Given the description of an element on the screen output the (x, y) to click on. 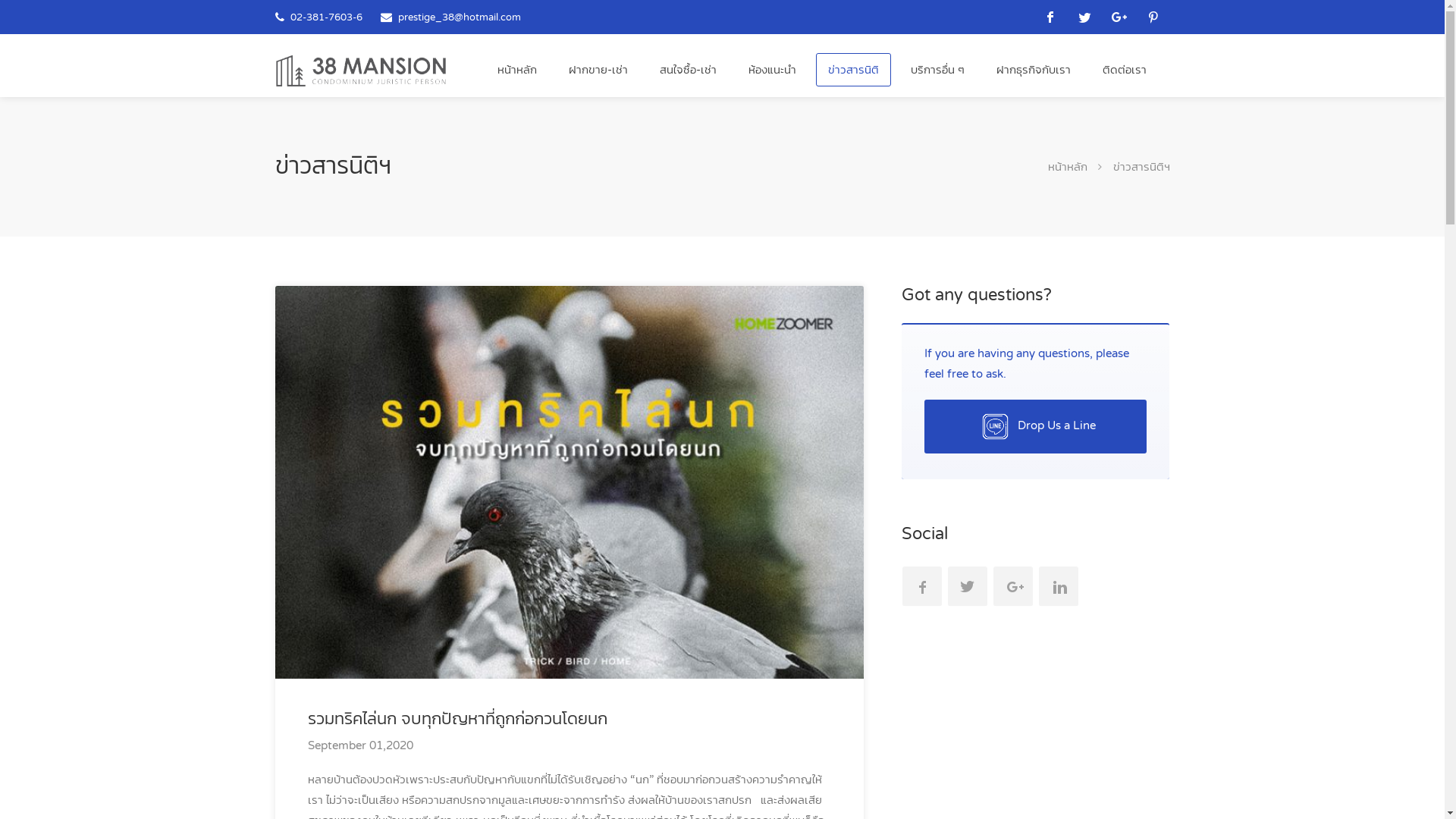
prestige_38@hotmail.com Element type: text (458, 17)
Drop Us a Line Element type: text (1035, 426)
